Given the description of an element on the screen output the (x, y) to click on. 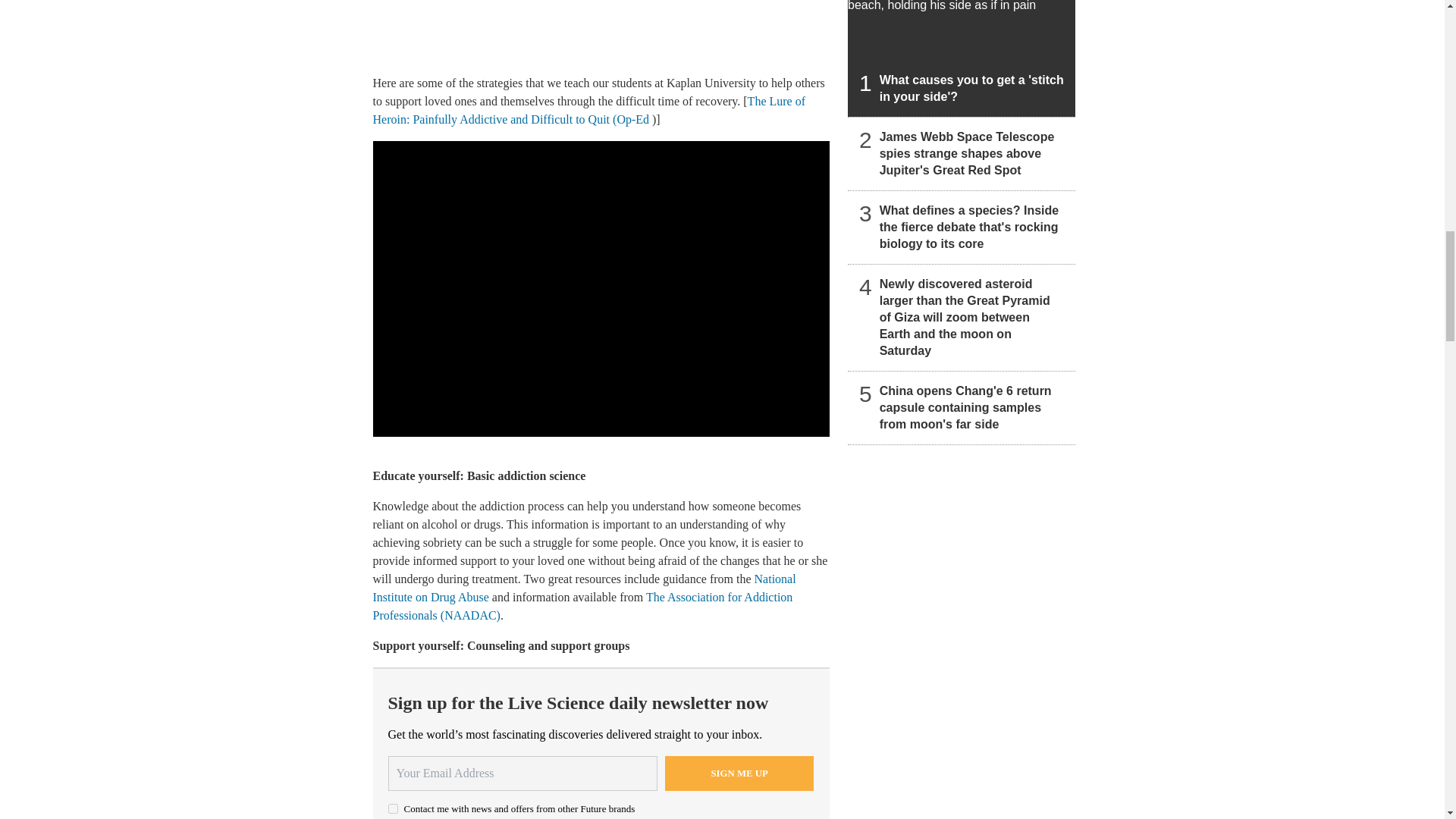
on (392, 808)
Sign me up (739, 773)
What causes you to get a 'stitch in your side'? (961, 58)
